Given the description of an element on the screen output the (x, y) to click on. 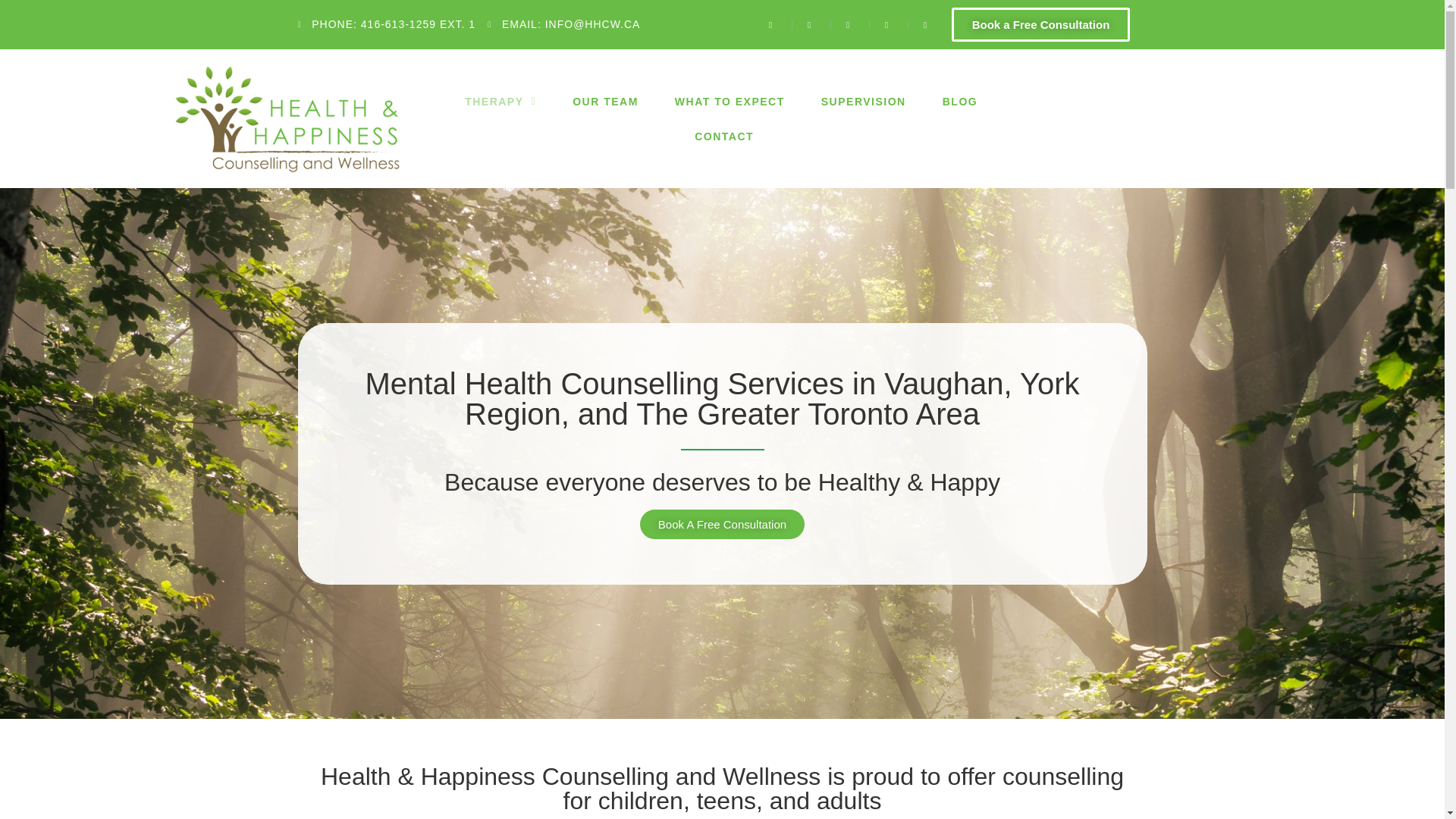
Book A Free Consultation (722, 523)
OUR TEAM (605, 100)
WHAT TO EXPECT (729, 100)
SUPERVISION (863, 100)
CONTACT (723, 135)
BLOG (959, 100)
THERAPY (500, 100)
Book a Free Consultation (1041, 24)
PHONE: 416-613-1259 EXT. 1 (386, 24)
